Given the description of an element on the screen output the (x, y) to click on. 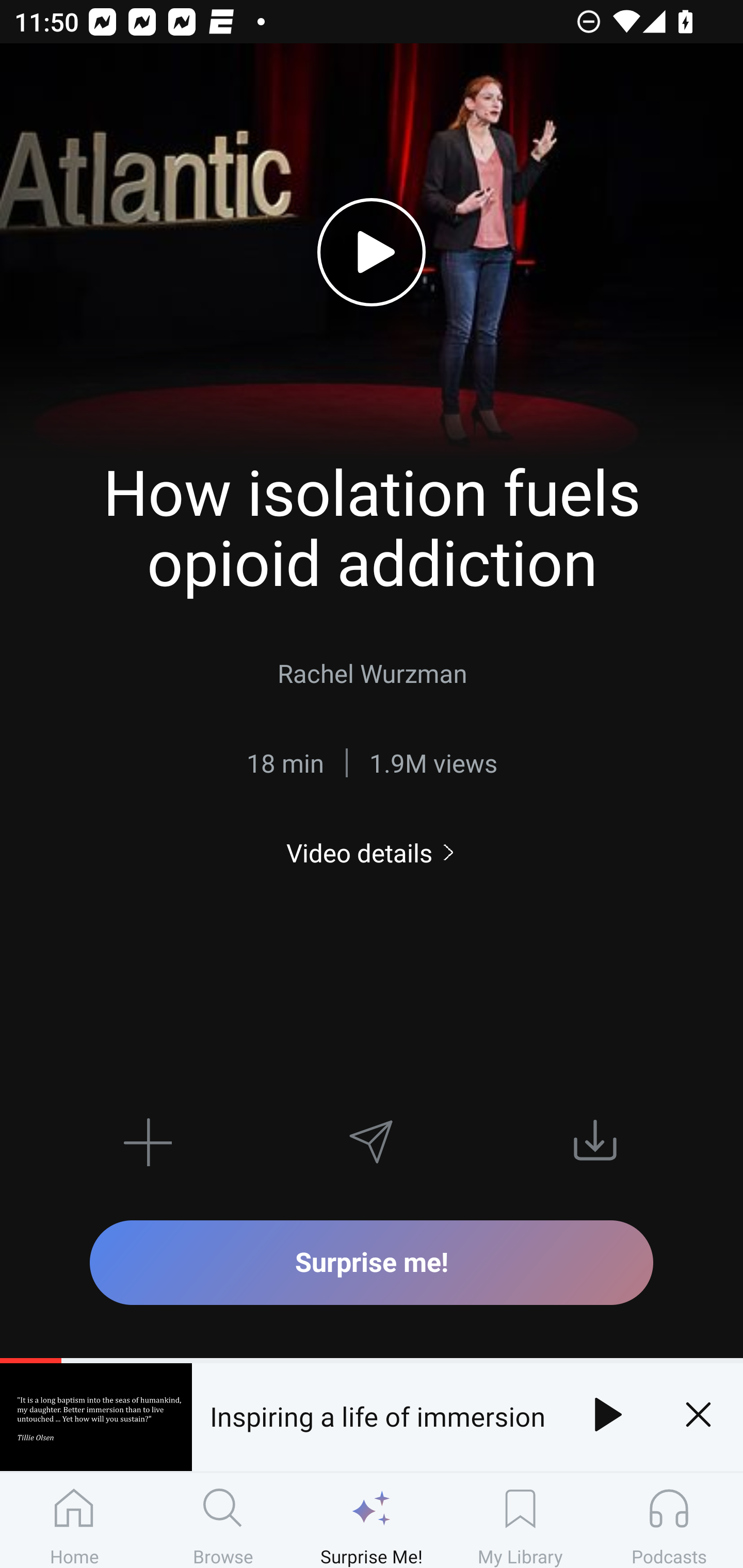
Video details (371, 852)
Surprise me! (371, 1261)
Inspiring a life of immersion (377, 1413)
Home (74, 1520)
Browse (222, 1520)
Surprise Me! (371, 1520)
My Library (519, 1520)
Podcasts (668, 1520)
